Given the description of an element on the screen output the (x, y) to click on. 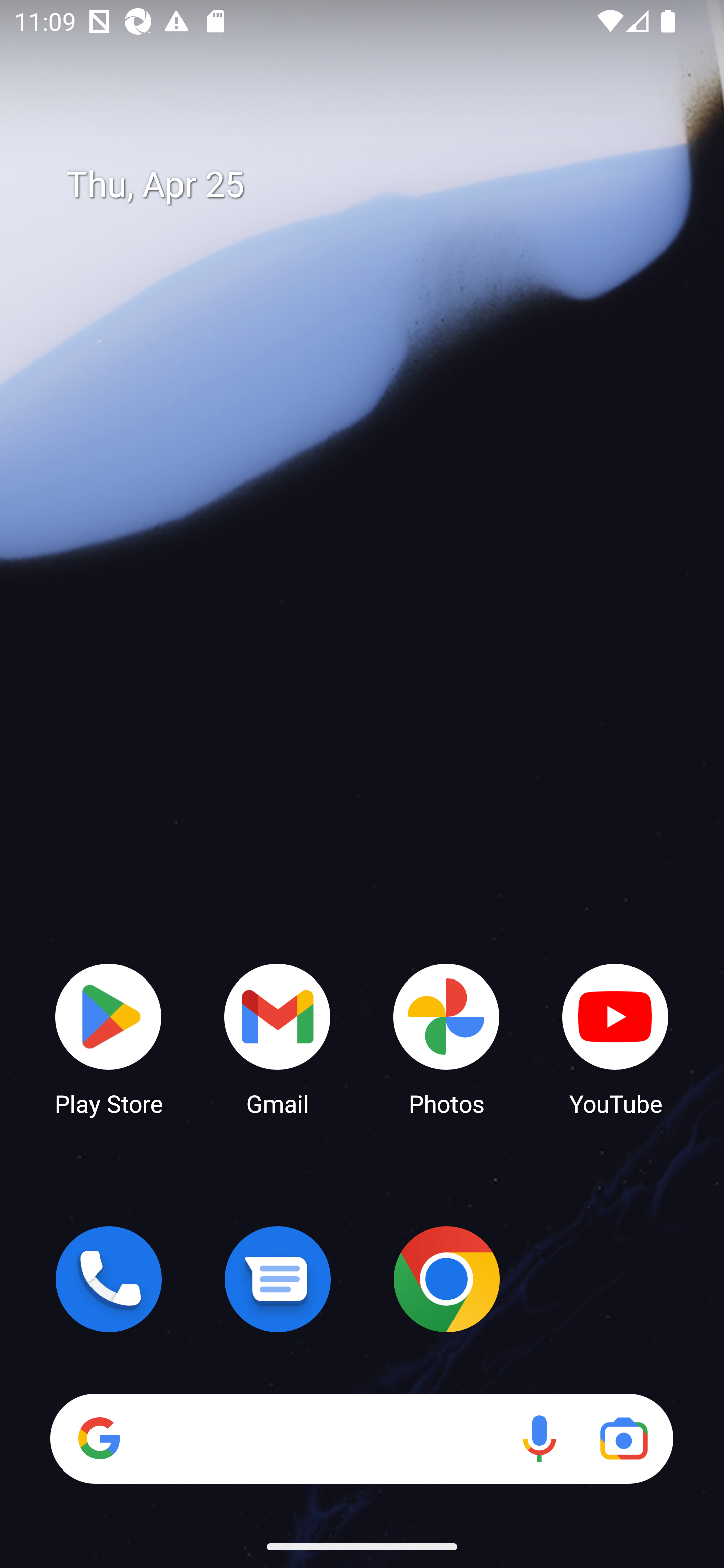
Thu, Apr 25 (375, 184)
Play Store (108, 1038)
Gmail (277, 1038)
Photos (445, 1038)
YouTube (615, 1038)
Phone (108, 1279)
Messages (277, 1279)
Chrome (446, 1279)
Search Voice search Google Lens (361, 1438)
Voice search (539, 1438)
Google Lens (623, 1438)
